Given the description of an element on the screen output the (x, y) to click on. 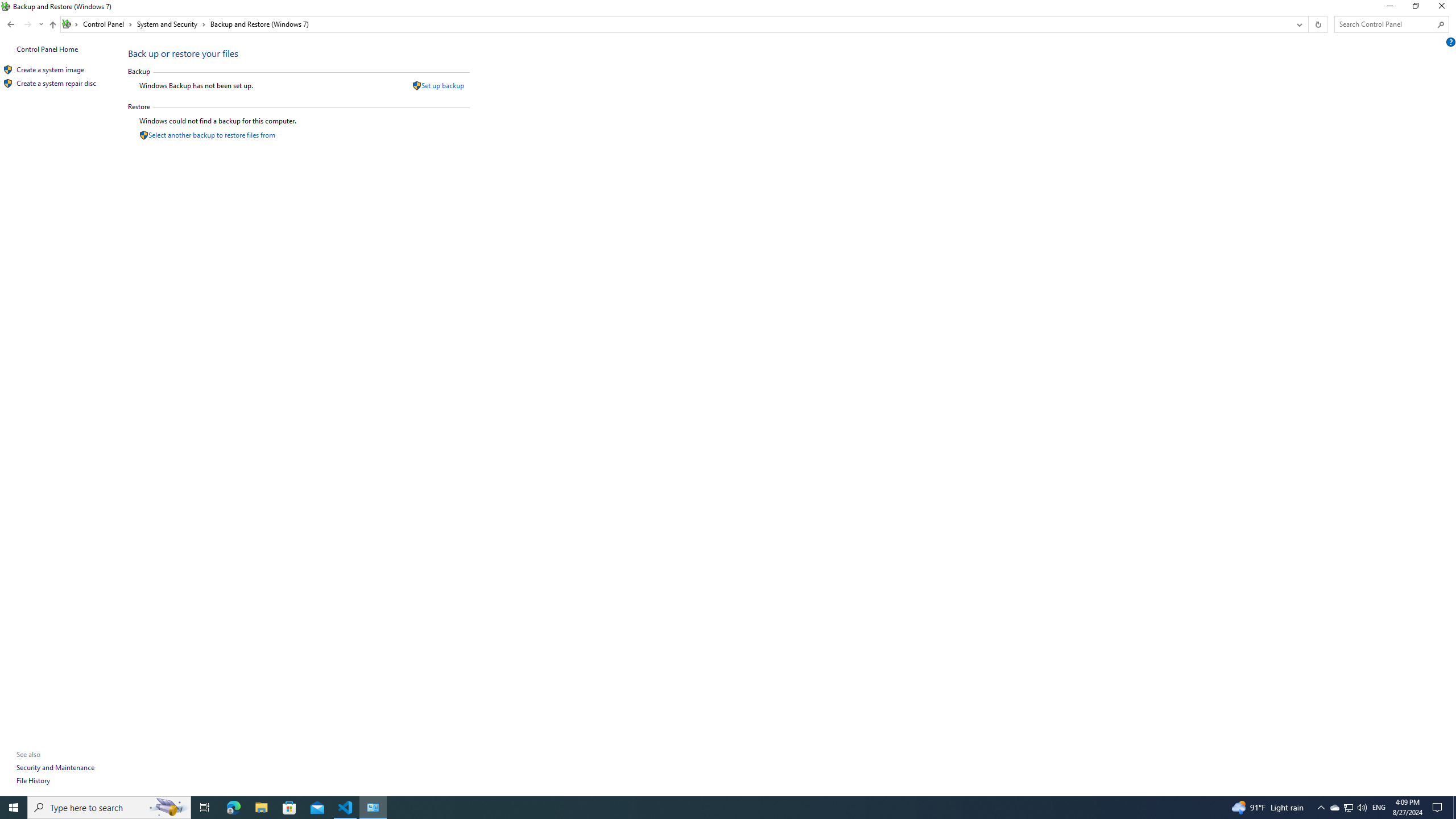
Up to "System and Security" (Alt + Up Arrow) (52, 24)
Notification Chevron (1320, 807)
Security and Maintenance (56, 767)
Tray Input Indicator - English (United States) (1378, 807)
Search highlights icon opens search home window (167, 807)
Navigation buttons (24, 23)
Back to System and Security (Alt + Left Arrow) (10, 23)
Select another backup to restore files from (211, 135)
Create a system repair disc (56, 83)
Set up backup (442, 85)
Q2790: 100% (1333, 807)
Task View (1361, 807)
Restore (204, 807)
